Given the description of an element on the screen output the (x, y) to click on. 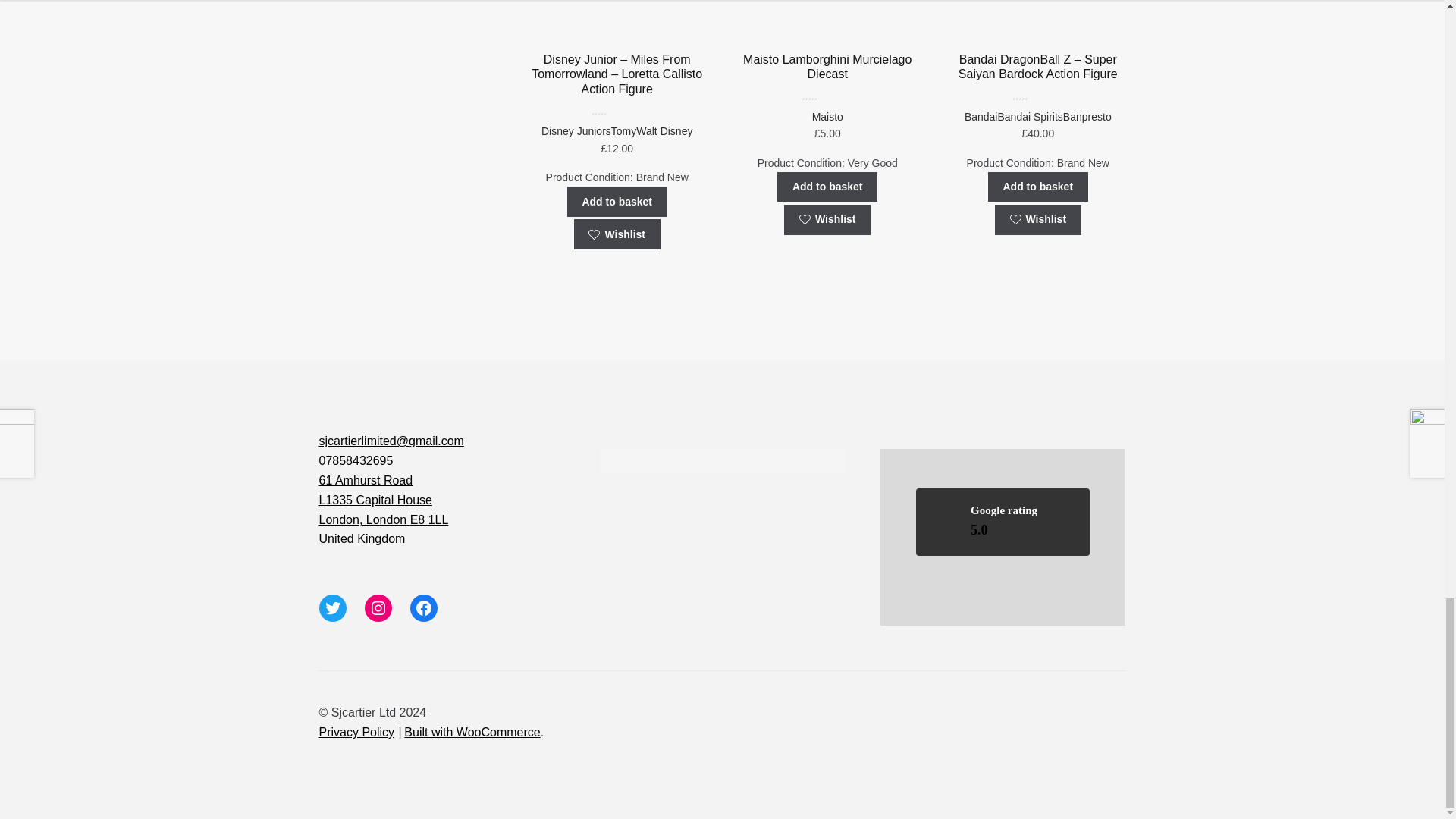
WooCommerce - The Best eCommerce Platform for WordPress (472, 731)
Open address in Google Maps (441, 509)
